Given the description of an element on the screen output the (x, y) to click on. 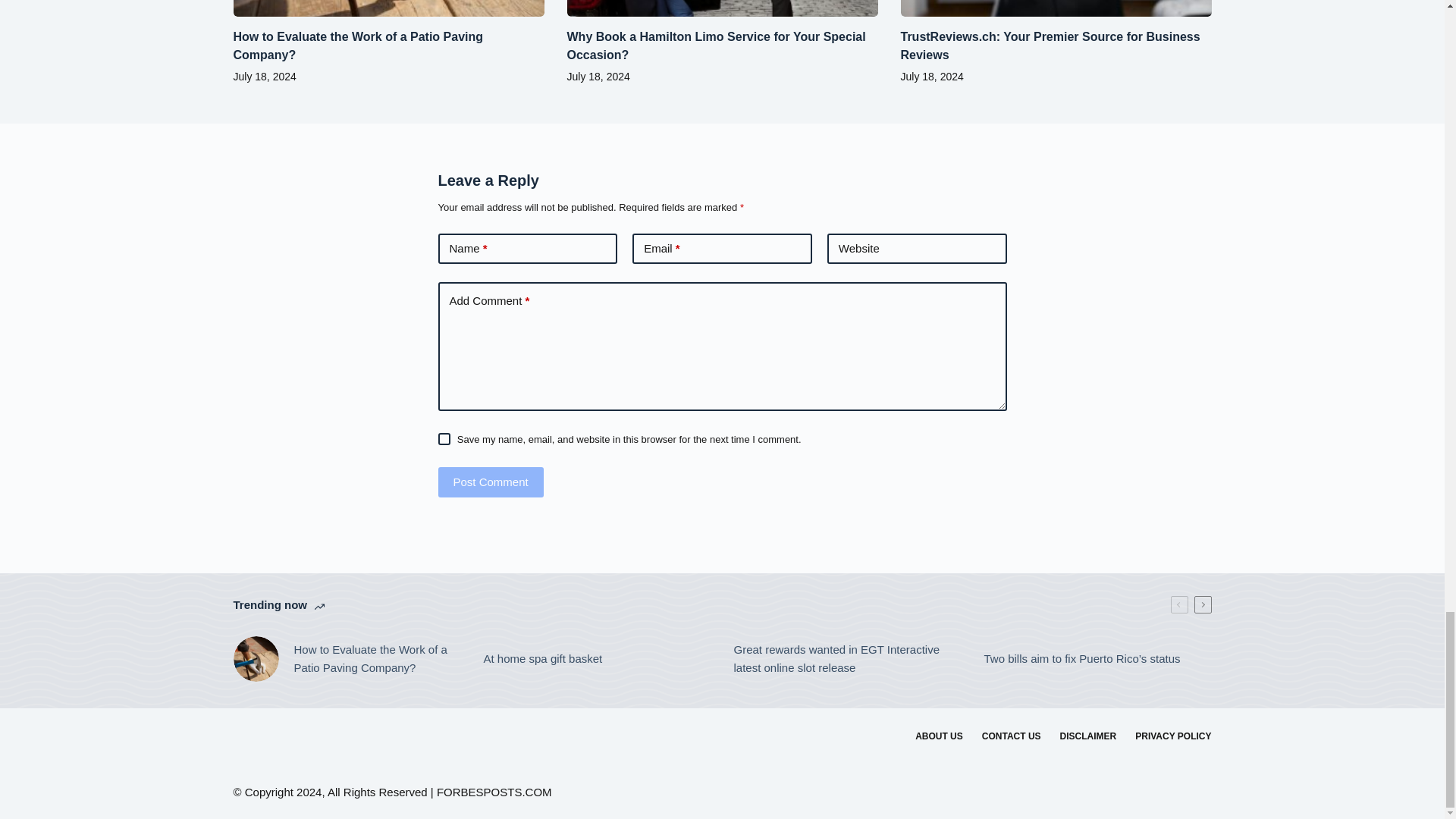
yes (443, 439)
